Given the description of an element on the screen output the (x, y) to click on. 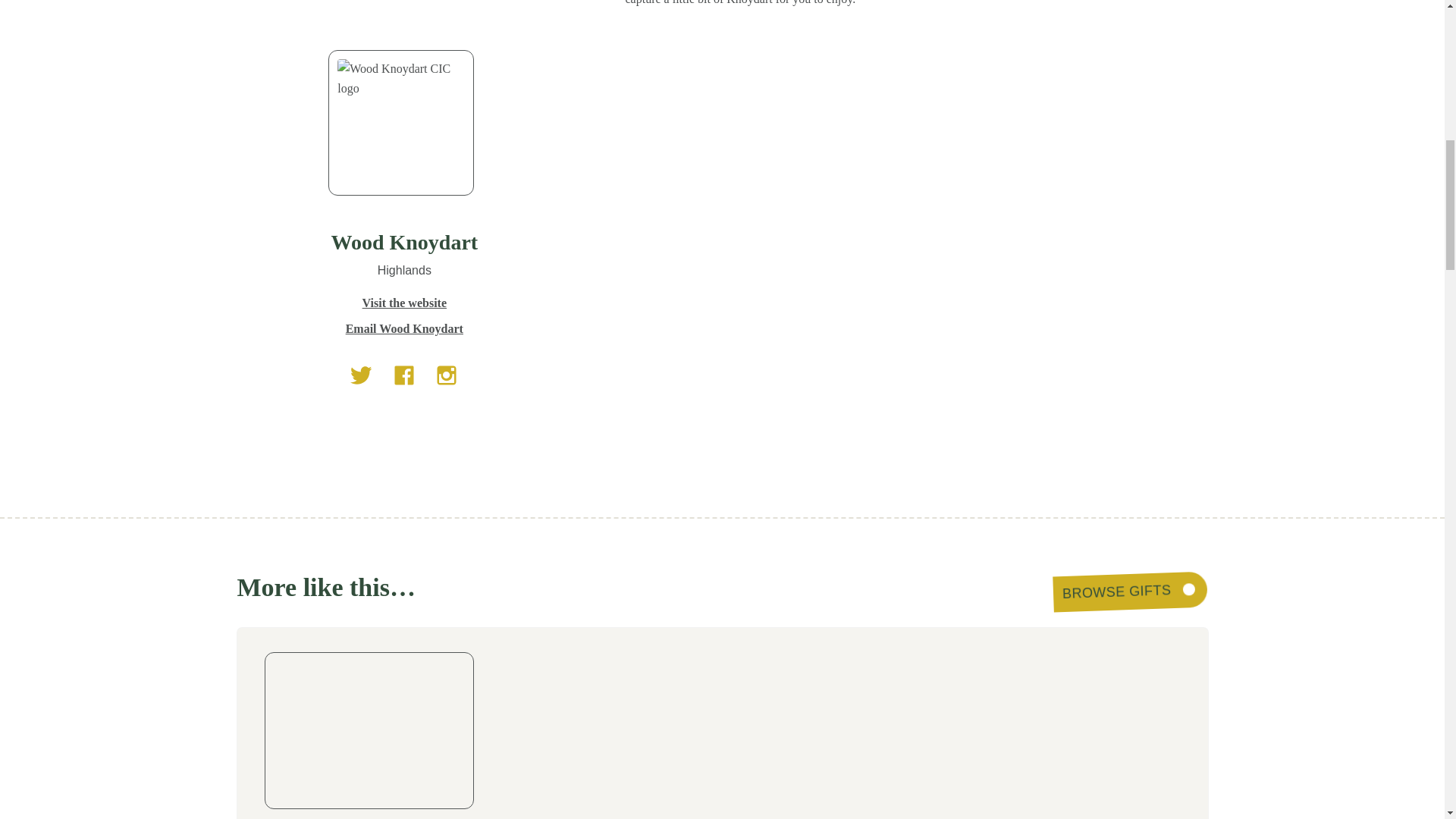
Facebook (403, 305)
Twitter (361, 305)
Instagram (445, 305)
